Given the description of an element on the screen output the (x, y) to click on. 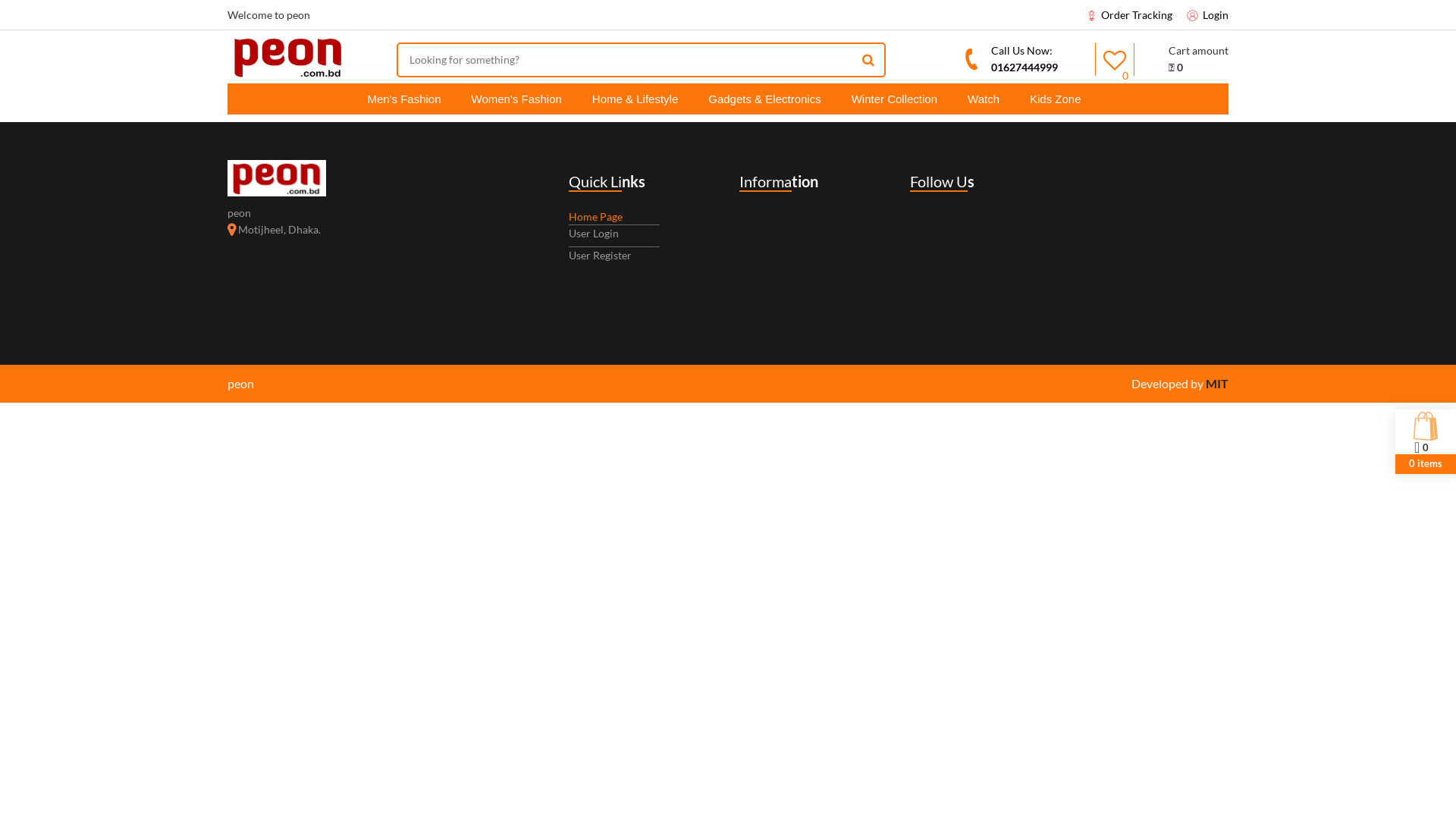
Home Page Element type: text (595, 216)
Kids Zone Element type: text (1055, 98)
Login Element type: text (1215, 13)
Order Tracking Element type: text (1128, 14)
User Register Element type: text (613, 257)
Men's Fashion Element type: text (403, 98)
Watch Element type: text (983, 98)
User Login Element type: text (613, 235)
Motijheel, Dhaka. Element type: text (273, 228)
MIT Element type: text (1216, 383)
0 Element type: text (1114, 58)
Winter Collection Element type: text (894, 98)
Home & Lifestyle Element type: text (634, 98)
Women's Fashion Element type: text (516, 98)
Call Us Now:
01627444999 Element type: text (983, 59)
Gadgets & Electronics Element type: text (764, 98)
